Given the description of an element on the screen output the (x, y) to click on. 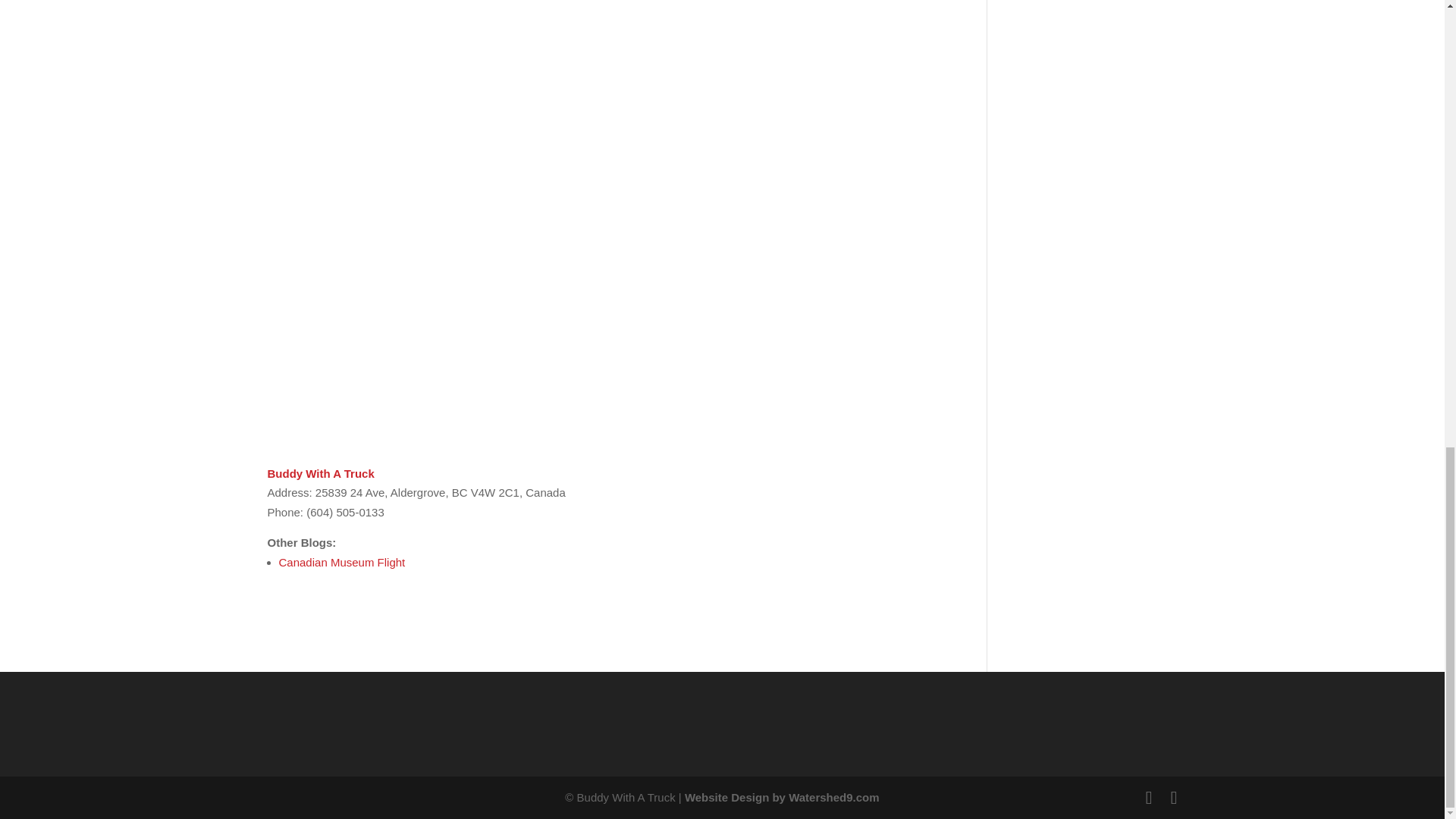
Canadian Museum Flight (342, 562)
Buddy With A Truck (320, 472)
